Given the description of an element on the screen output the (x, y) to click on. 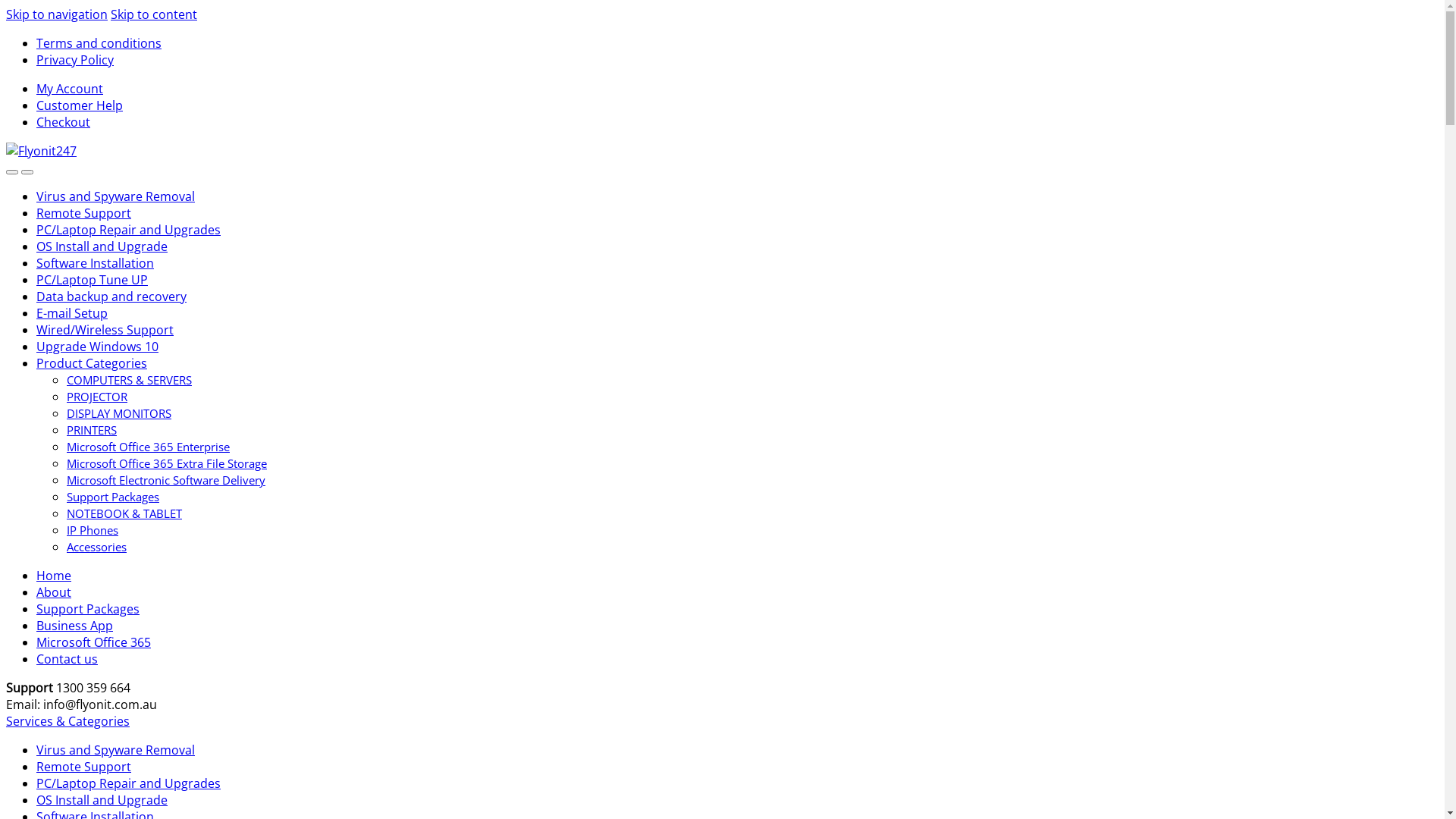
Virus and Spyware Removal Element type: text (115, 196)
COMPUTERS & SERVERS Element type: text (128, 379)
Virus and Spyware Removal Element type: text (115, 749)
Privacy Policy Element type: text (74, 59)
Support Packages Element type: text (87, 608)
Wired/Wireless Support Element type: text (104, 329)
Checkout Element type: text (63, 121)
IP Phones Element type: text (92, 529)
Support Packages Element type: text (112, 496)
Terms and conditions Element type: text (98, 42)
OS Install and Upgrade Element type: text (101, 799)
PC/Laptop Repair and Upgrades Element type: text (128, 783)
PC/Laptop Repair and Upgrades Element type: text (128, 229)
Microsoft Electronic Software Delivery Element type: text (165, 479)
Home Element type: text (53, 575)
Remote Support Element type: text (83, 766)
Software Installation Element type: text (94, 262)
PROJECTOR Element type: text (96, 396)
Remote Support Element type: text (83, 212)
Skip to navigation Element type: text (56, 14)
PRINTERS Element type: text (91, 429)
Business App Element type: text (74, 625)
Skip to content Element type: text (153, 14)
OS Install and Upgrade Element type: text (101, 246)
Services & Categories Element type: text (67, 720)
E-mail Setup Element type: text (71, 312)
Customer Help Element type: text (79, 105)
Microsoft Office 365 Element type: text (93, 641)
My Account Element type: text (69, 88)
DISPLAY MONITORS Element type: text (118, 412)
Upgrade Windows 10 Element type: text (97, 346)
Microsoft Office 365 Enterprise Element type: text (147, 446)
NOTEBOOK & TABLET Element type: text (124, 512)
Microsoft Office 365 Extra File Storage Element type: text (166, 462)
Data backup and recovery Element type: text (111, 296)
PC/Laptop Tune UP Element type: text (91, 279)
Product Categories Element type: text (91, 362)
About Element type: text (53, 591)
Accessories Element type: text (96, 546)
Contact us Element type: text (66, 658)
